Given the description of an element on the screen output the (x, y) to click on. 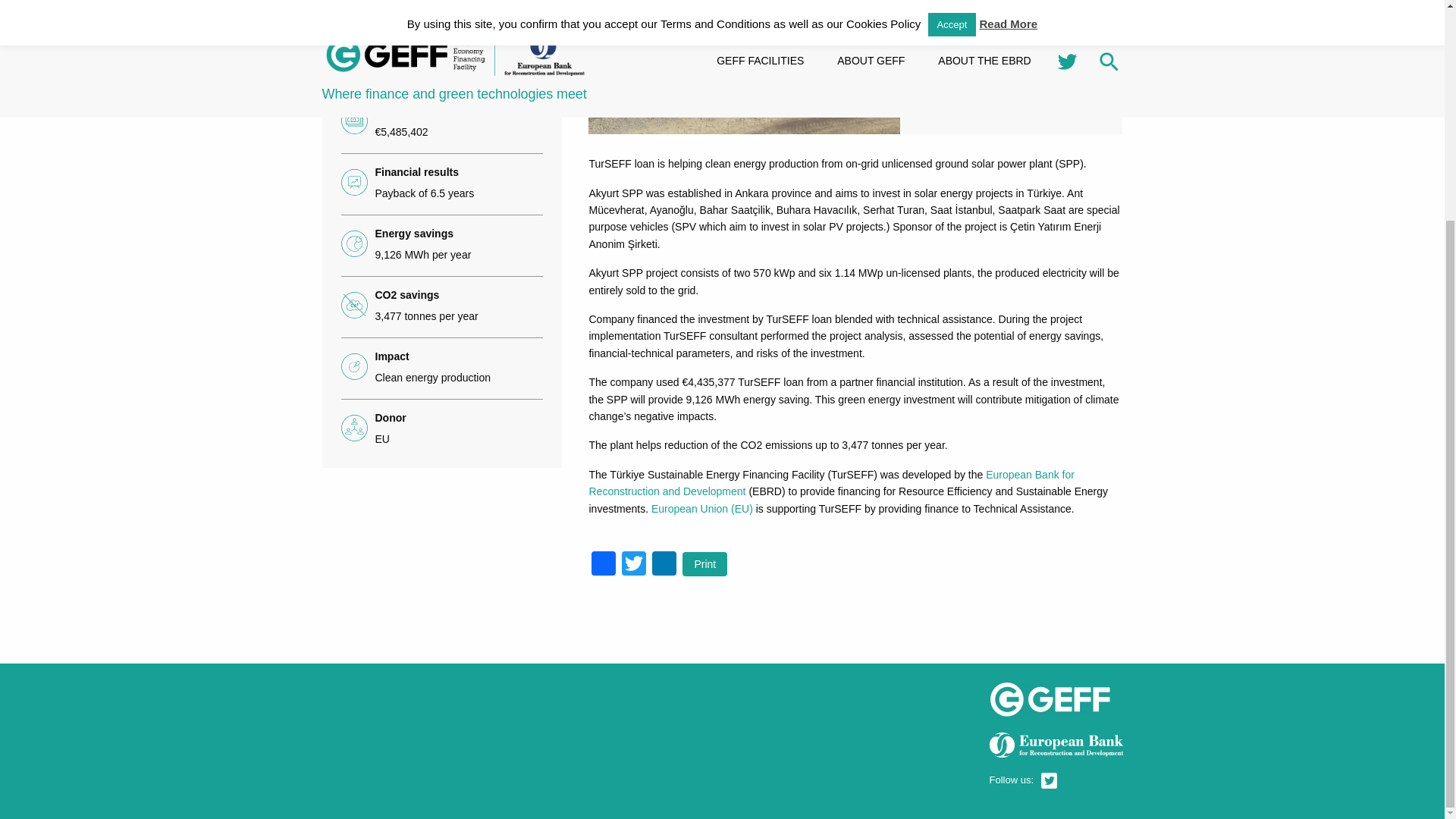
Facebook (603, 565)
LinkedIn (664, 565)
Twitter (633, 565)
